Given the description of an element on the screen output the (x, y) to click on. 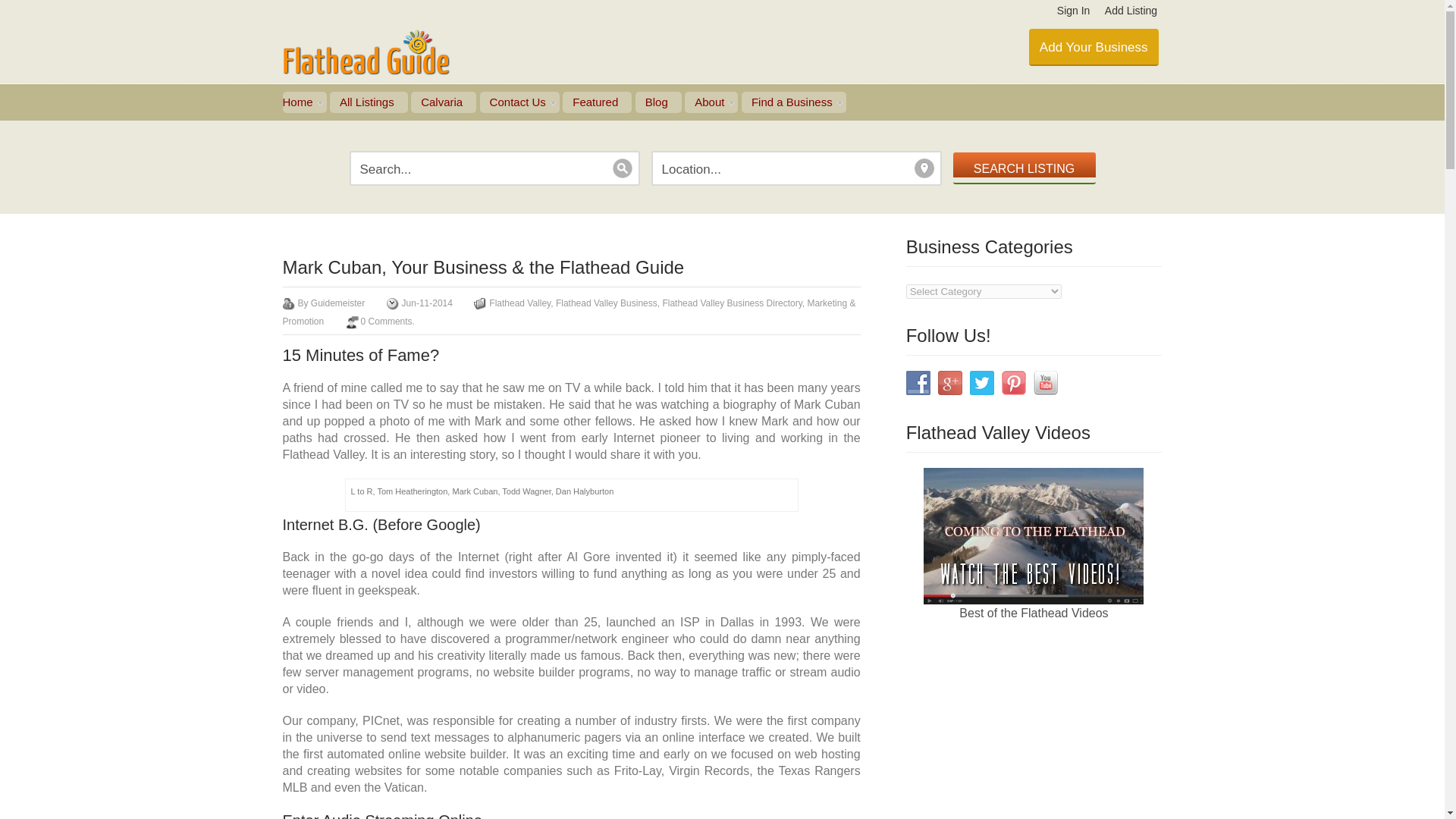
Add Your Business (1093, 47)
Blog (657, 102)
Add Listing (1131, 10)
Follow Us on Pinterest (1013, 382)
Follow Us on Facebook (917, 382)
Sign In (1073, 10)
Search Listing (1023, 168)
Posts by Guidemeister (338, 303)
Follow Us on Twitter (981, 382)
Follow Us on YouTube (1045, 382)
